Given the description of an element on the screen output the (x, y) to click on. 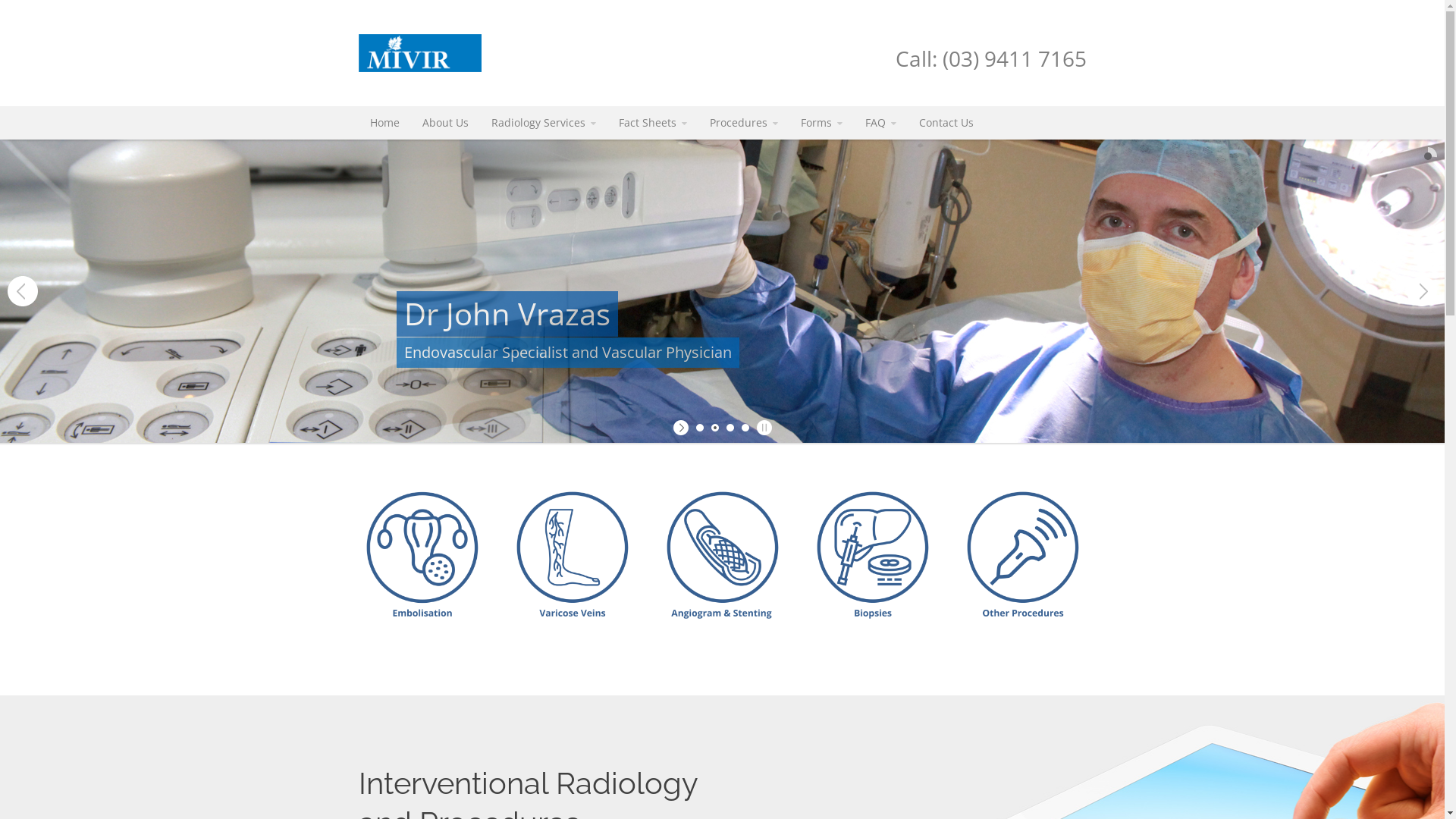
FAQ Element type: text (880, 122)
Fact Sheets Element type: text (651, 122)
Procedures Element type: text (742, 122)
About Us Element type: text (445, 122)
Forms Element type: text (820, 122)
(03) 9411 7165 Element type: text (1013, 57)
Contact Us Element type: text (945, 122)
Home Element type: text (383, 122)
Radiology Services Element type: text (542, 122)
